Given the description of an element on the screen output the (x, y) to click on. 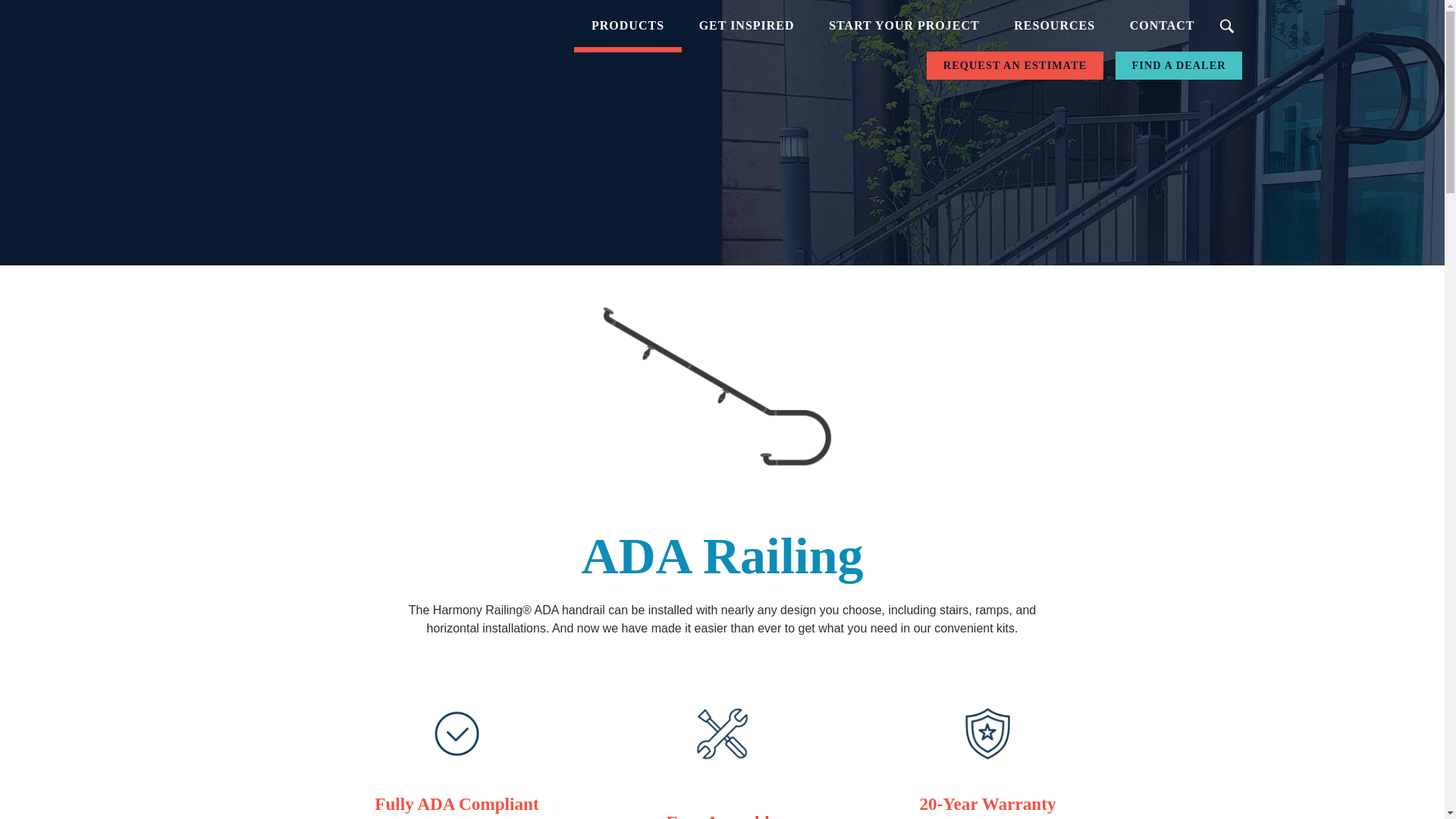
ADA Handrail (722, 388)
PRODUCTS (627, 25)
check mark (456, 733)
Harmony Railing Warranty Badge (987, 733)
GET INSPIRED (746, 25)
Tools Icon (722, 733)
FIND A DEALER (1178, 65)
CONTACT (1161, 25)
REQUEST AN ESTIMATE (1014, 65)
START YOUR PROJECT (902, 25)
